Given the description of an element on the screen output the (x, y) to click on. 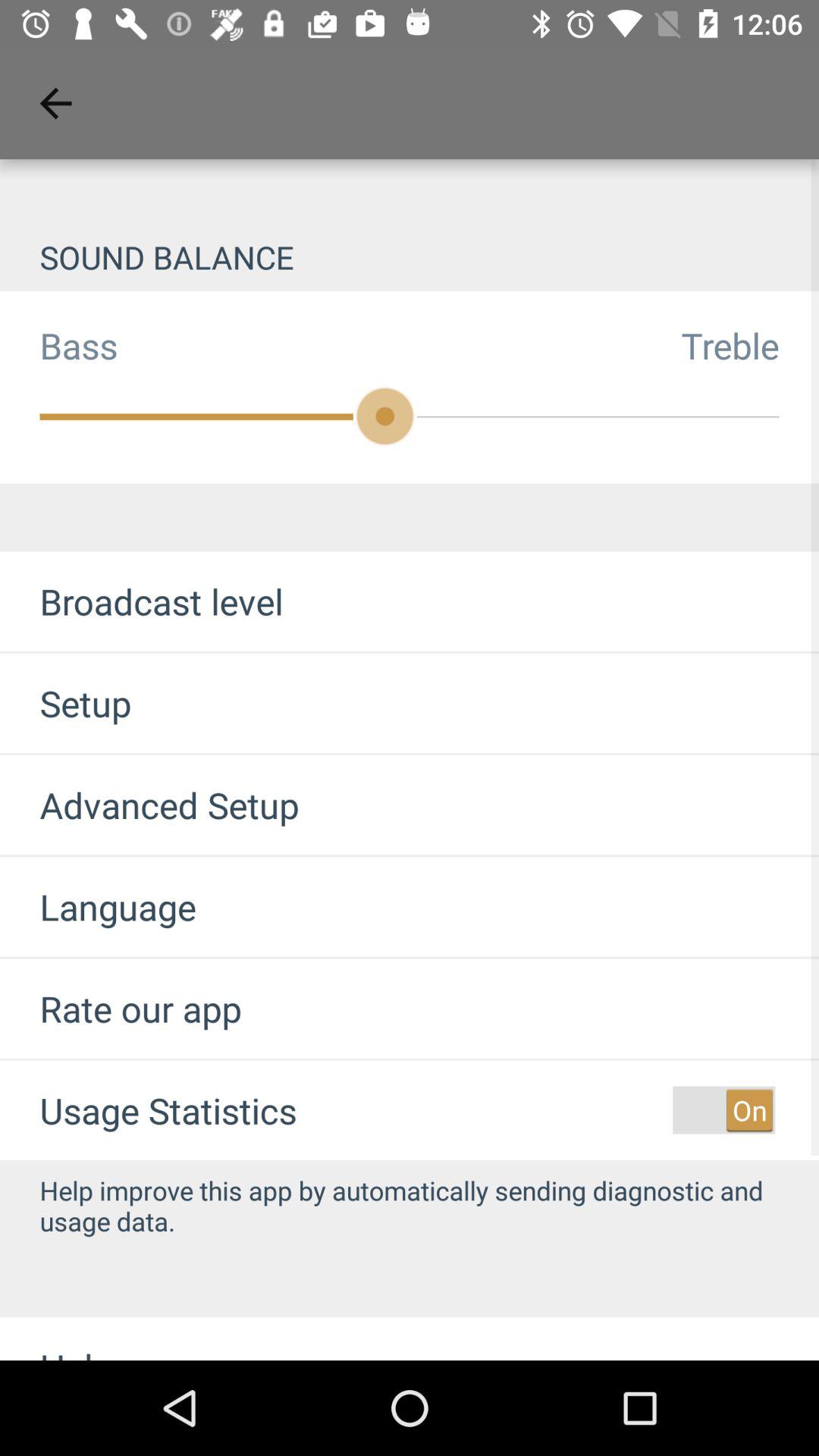
open the item next to the usage statistics (723, 1110)
